Given the description of an element on the screen output the (x, y) to click on. 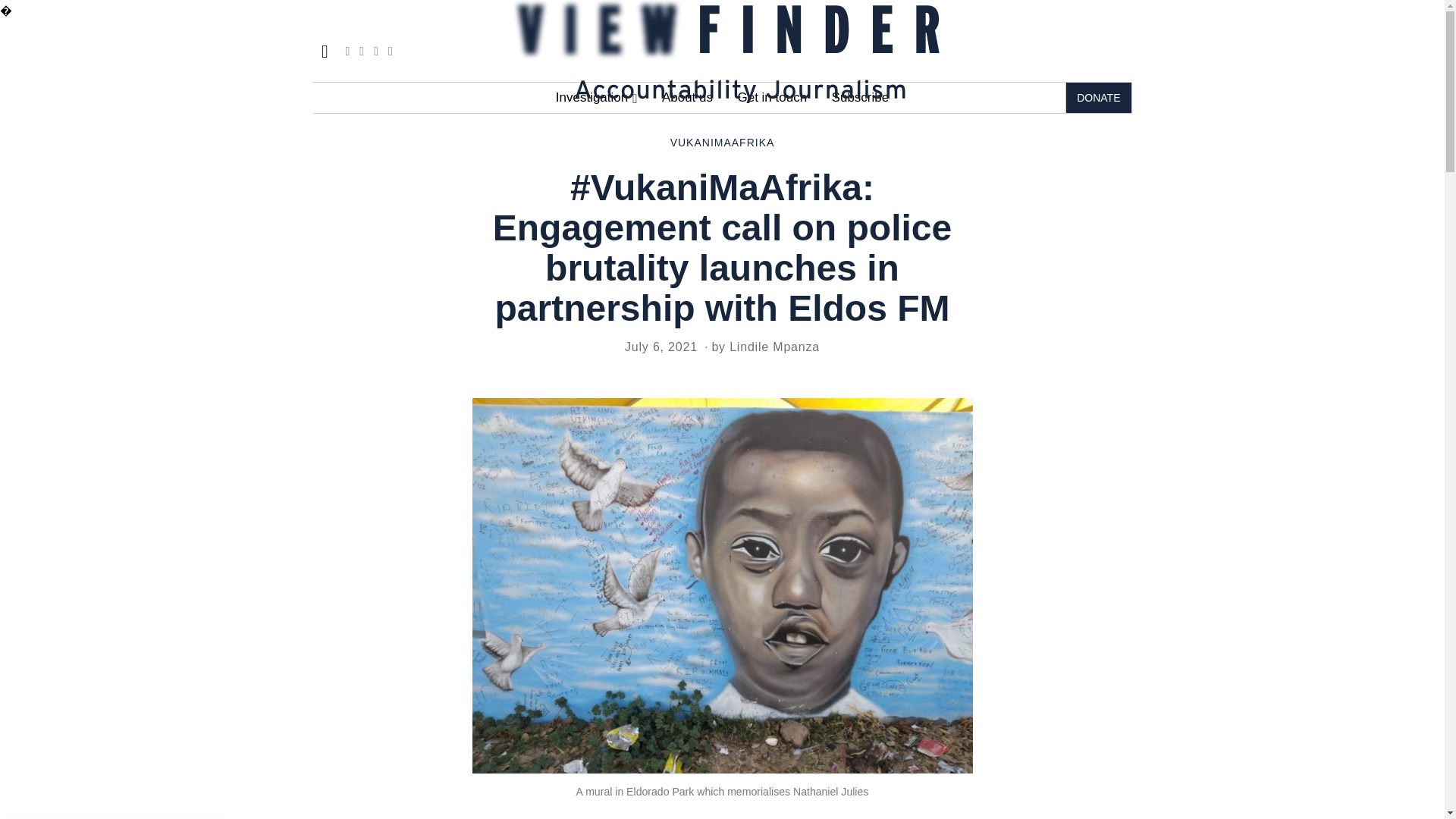
Subscribe (860, 97)
Lindile Mpanza (774, 346)
About us (686, 97)
Get in touch (771, 97)
VUKANIMAAFRIKA (721, 142)
Investigation (595, 97)
DONATE (1098, 97)
